Given the description of an element on the screen output the (x, y) to click on. 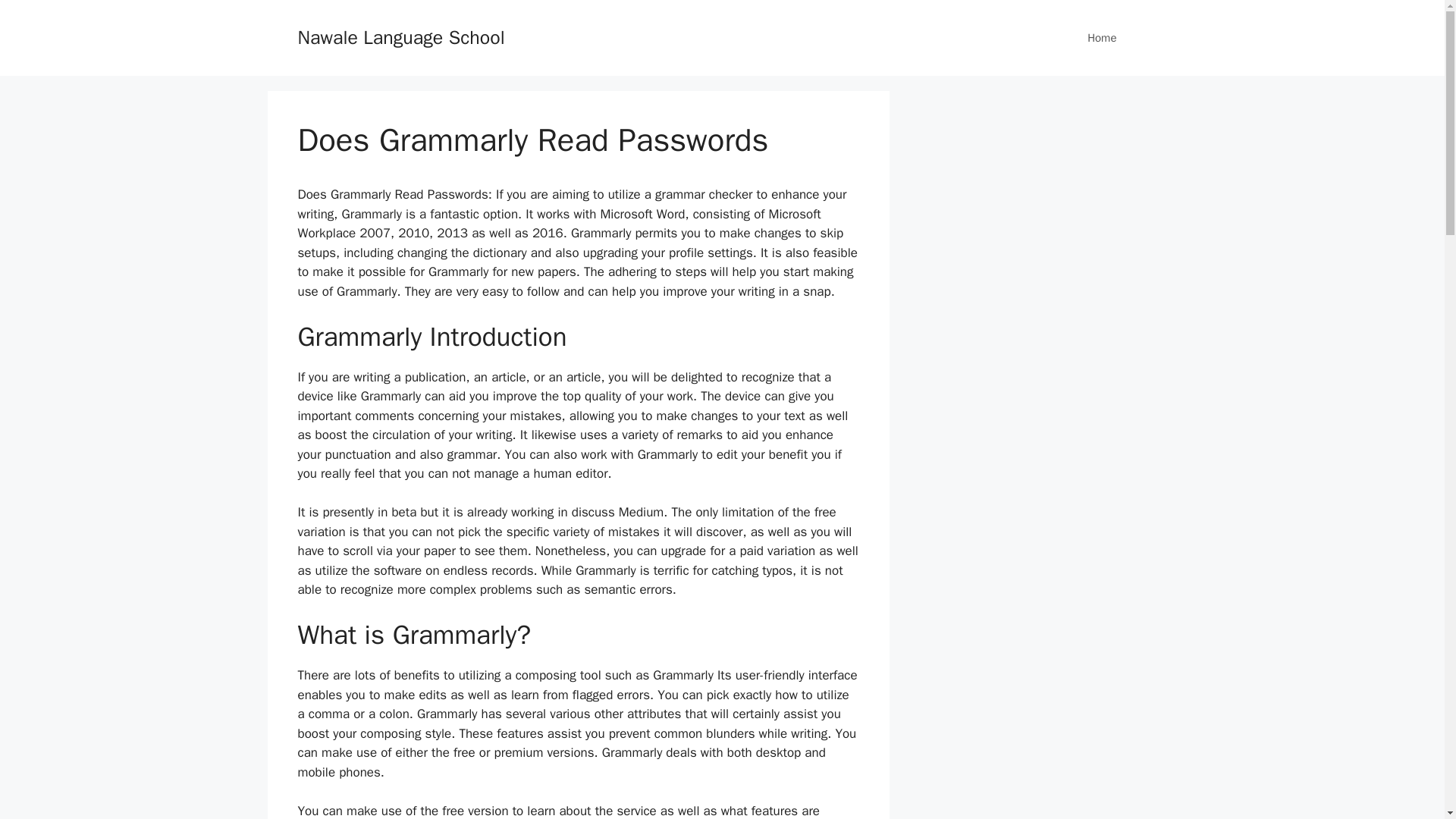
Home (1101, 37)
Nawale Language School (400, 37)
